Given the description of an element on the screen output the (x, y) to click on. 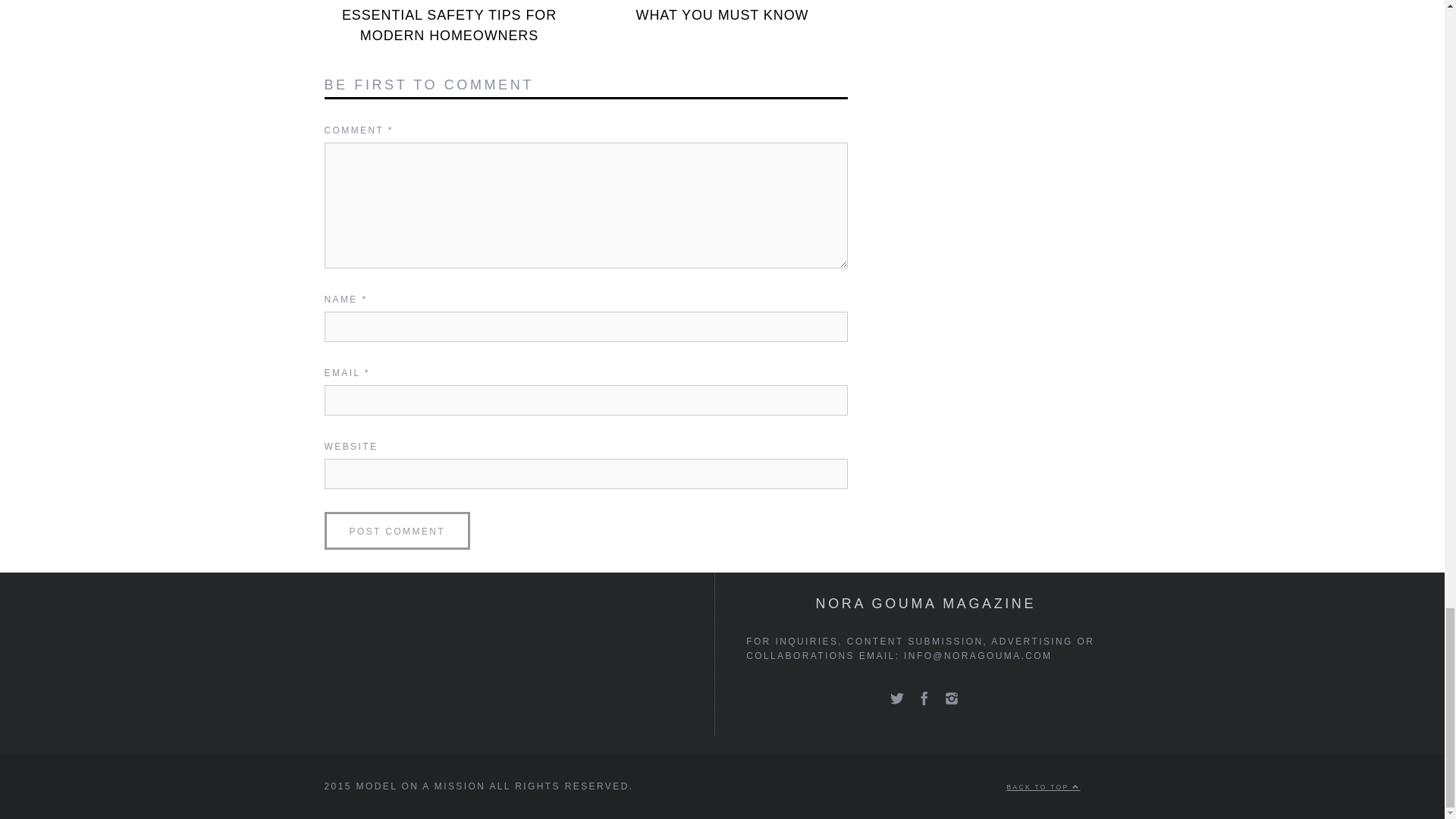
Post Comment (397, 530)
